Given the description of an element on the screen output the (x, y) to click on. 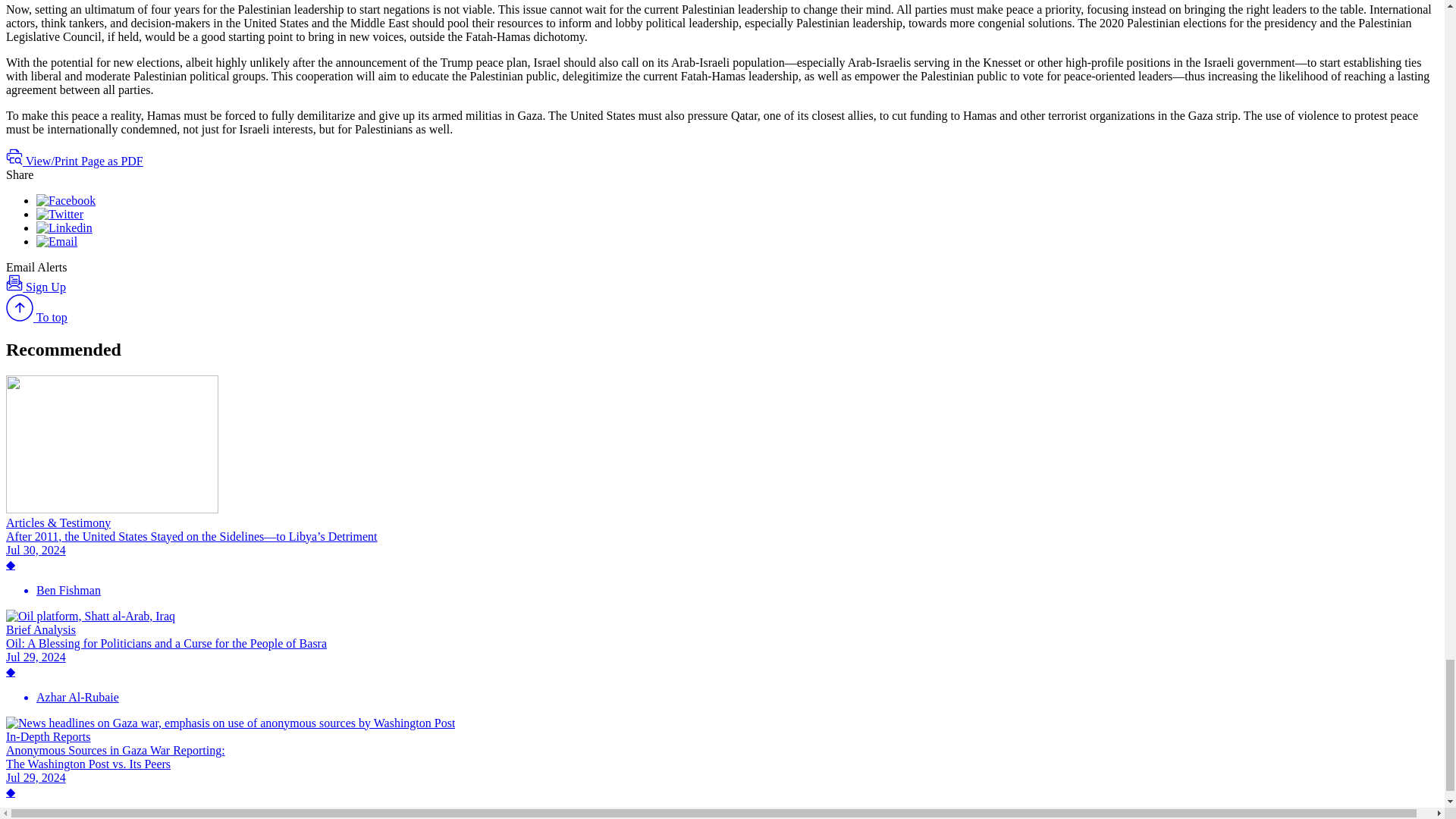
Twitter (59, 214)
Linkedin (64, 227)
Facebook (66, 200)
Email (56, 241)
